Given the description of an element on the screen output the (x, y) to click on. 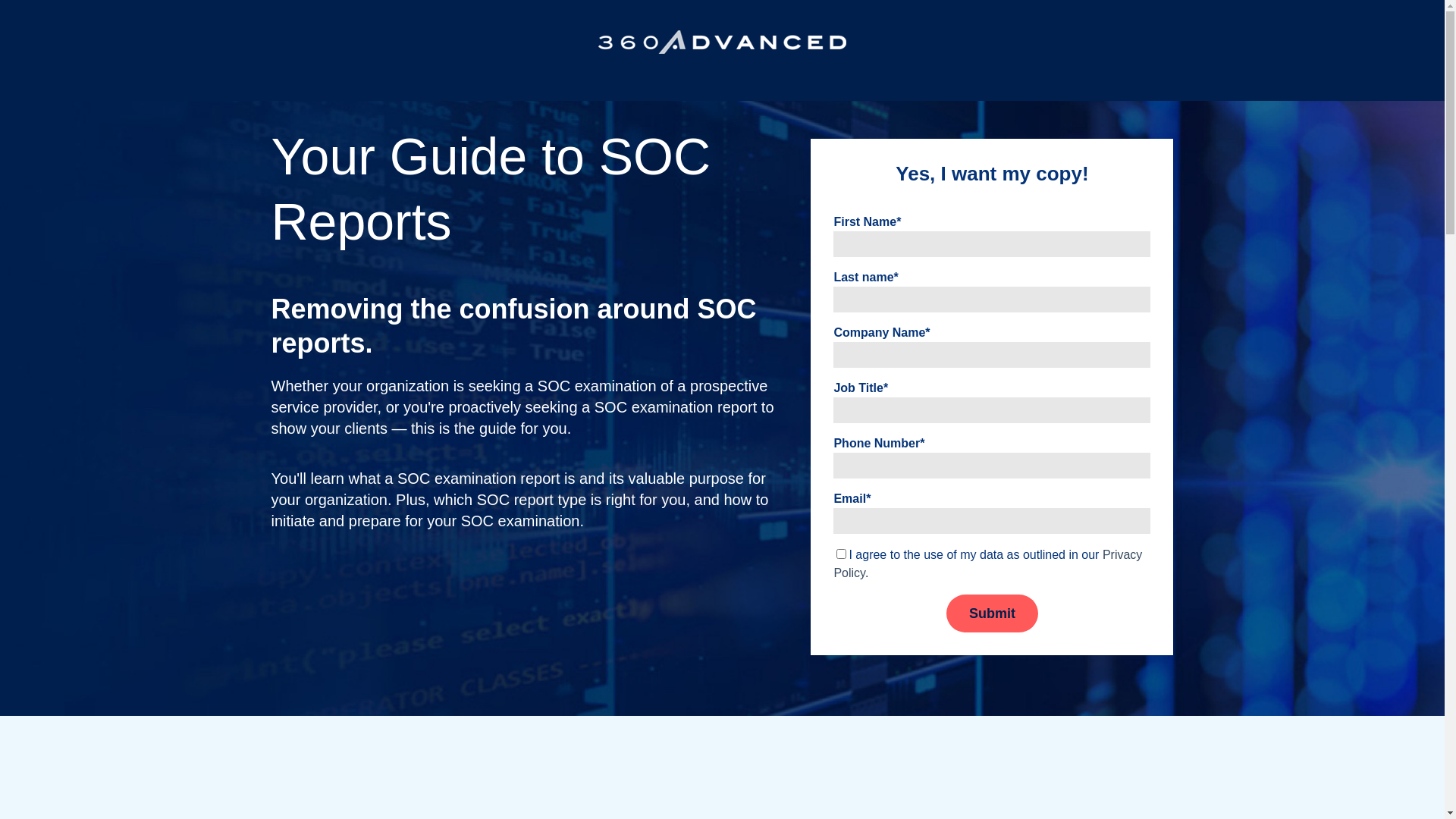
Submit Element type: text (992, 613)
logo-white Element type: hover (722, 41)
Privacy Policy Element type: text (987, 563)
